Given the description of an element on the screen output the (x, y) to click on. 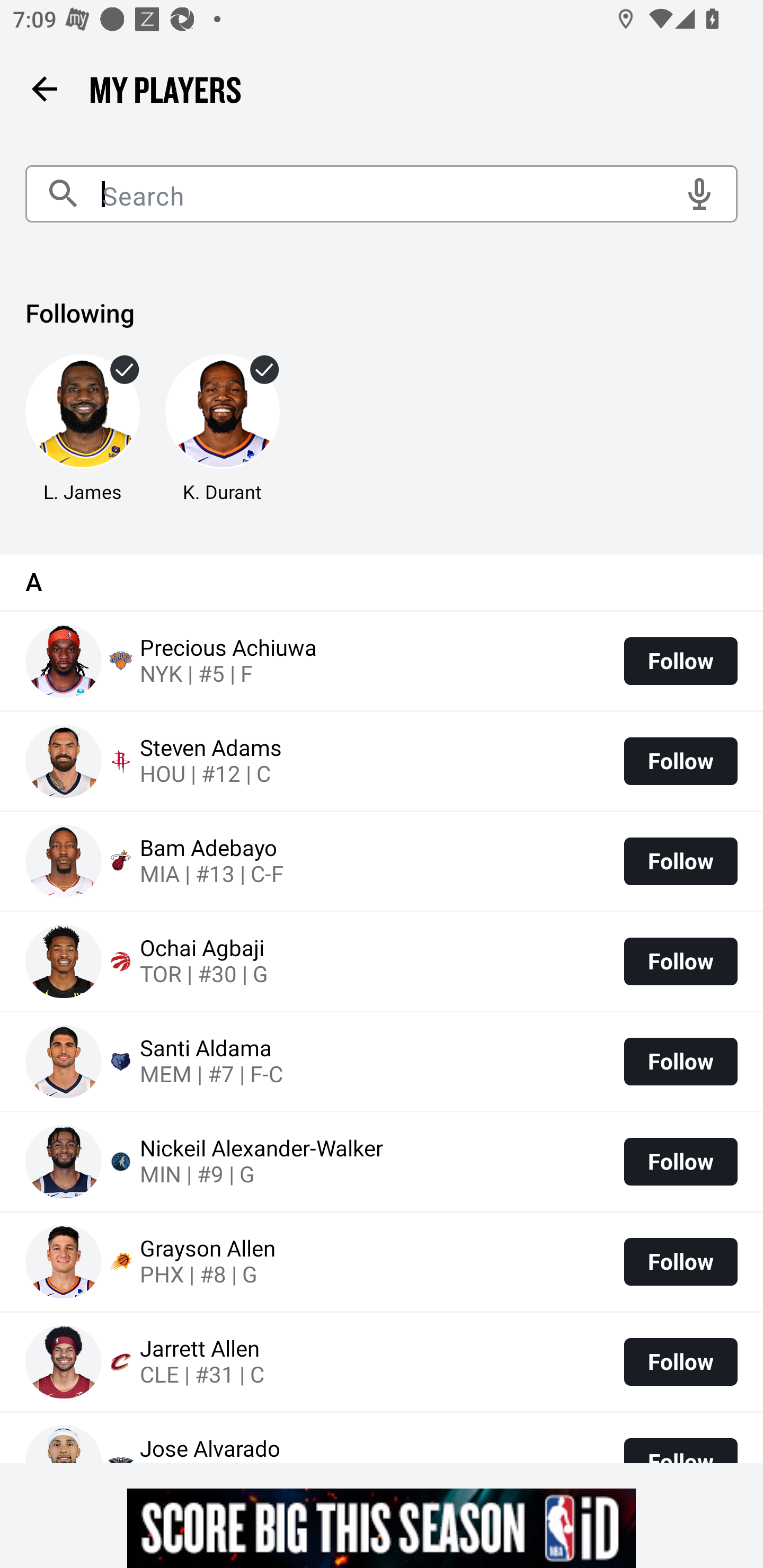
Back button (44, 88)
Search (381, 193)
Follow (680, 660)
Follow (680, 760)
Follow (680, 861)
Follow (680, 961)
Follow (680, 1061)
Follow (680, 1161)
Follow (680, 1261)
Follow (680, 1361)
g5nqqygr7owph (381, 1528)
